Given the description of an element on the screen output the (x, y) to click on. 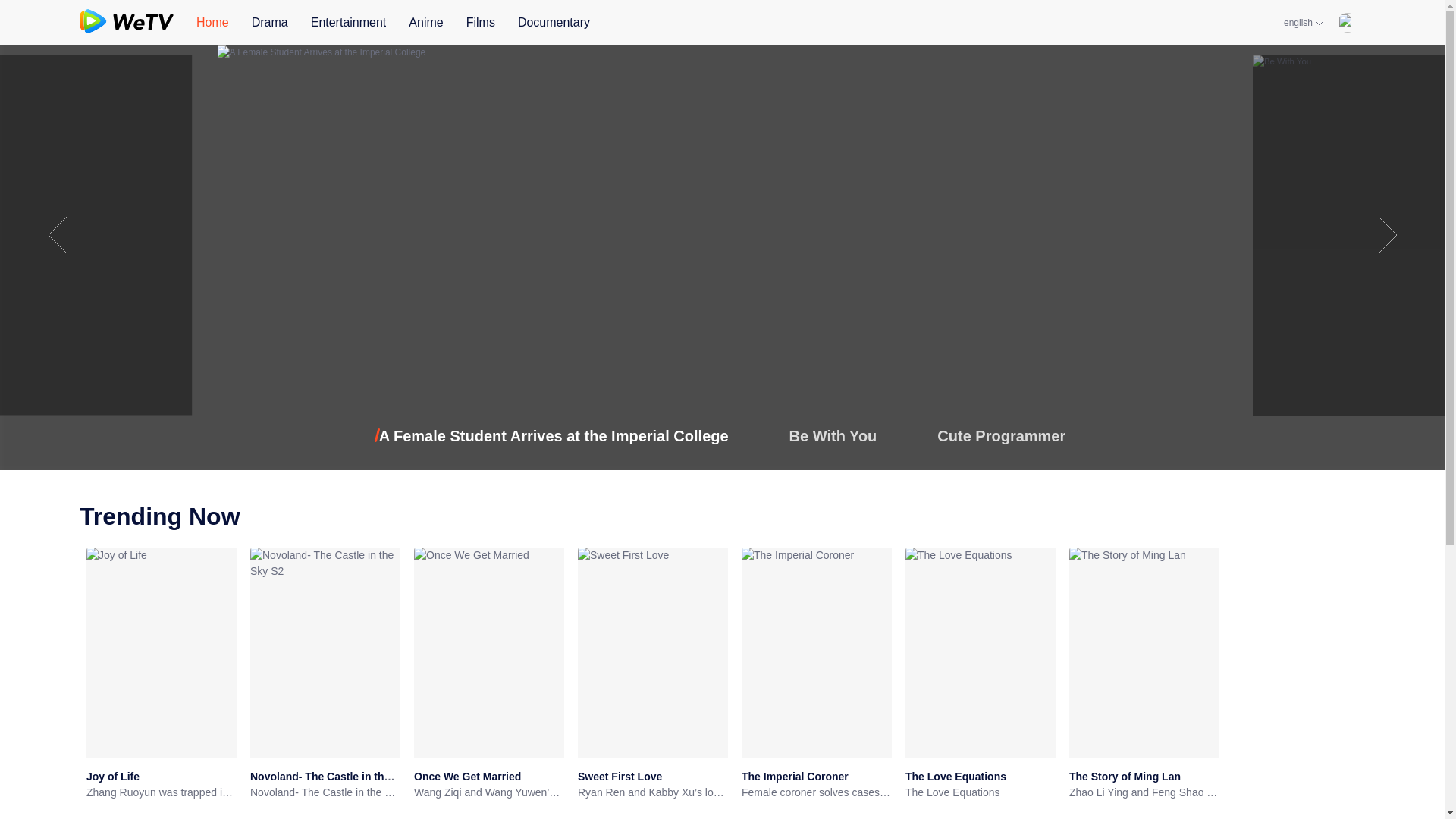
Documentary (553, 22)
Entertainment (349, 22)
Anime (425, 22)
Home (212, 22)
Joy of Life (112, 776)
Novoland- The Castle in the Sky S2 (325, 792)
The Imperial Coroner (794, 776)
A Female Student Arrives at the Imperial College (553, 436)
Sweet First Love (620, 776)
Films (480, 22)
Zhang Ruoyun was trapped in court with a risky life (160, 792)
The Love Equations (955, 776)
Female coroner solves cases with conservative lord (816, 792)
The Imperial Coroner (794, 776)
Sweet First Love (620, 776)
